Given the description of an element on the screen output the (x, y) to click on. 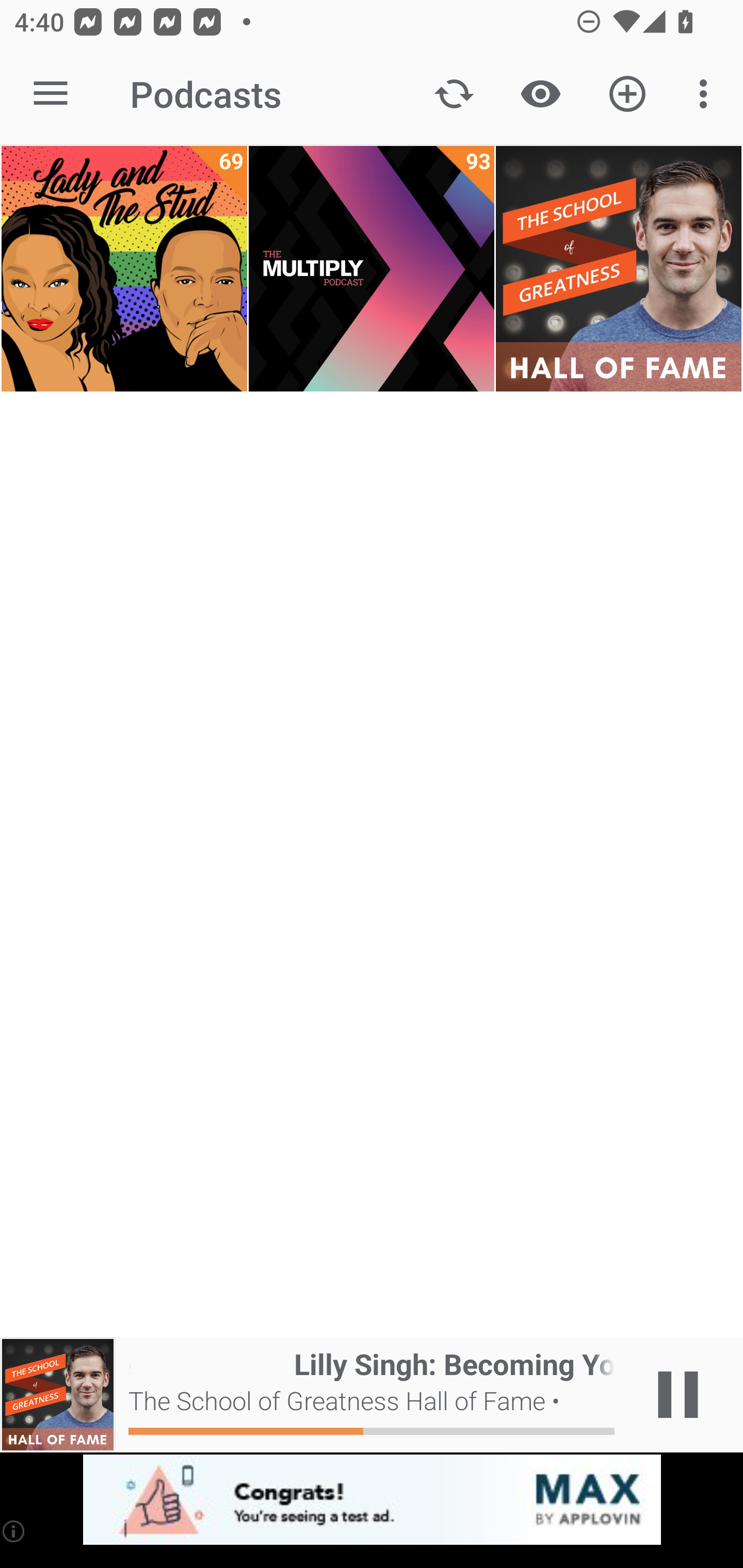
Open navigation sidebar (50, 93)
Update (453, 93)
Show / Hide played content (540, 93)
Add new Podcast (626, 93)
More options (706, 93)
Lady and The Stud 69 (124, 268)
The Multiply Podcast 93 (371, 268)
The School of Greatness Hall of Fame (618, 268)
Play / Pause (677, 1394)
app-monetization (371, 1500)
(i) (14, 1531)
